Given the description of an element on the screen output the (x, y) to click on. 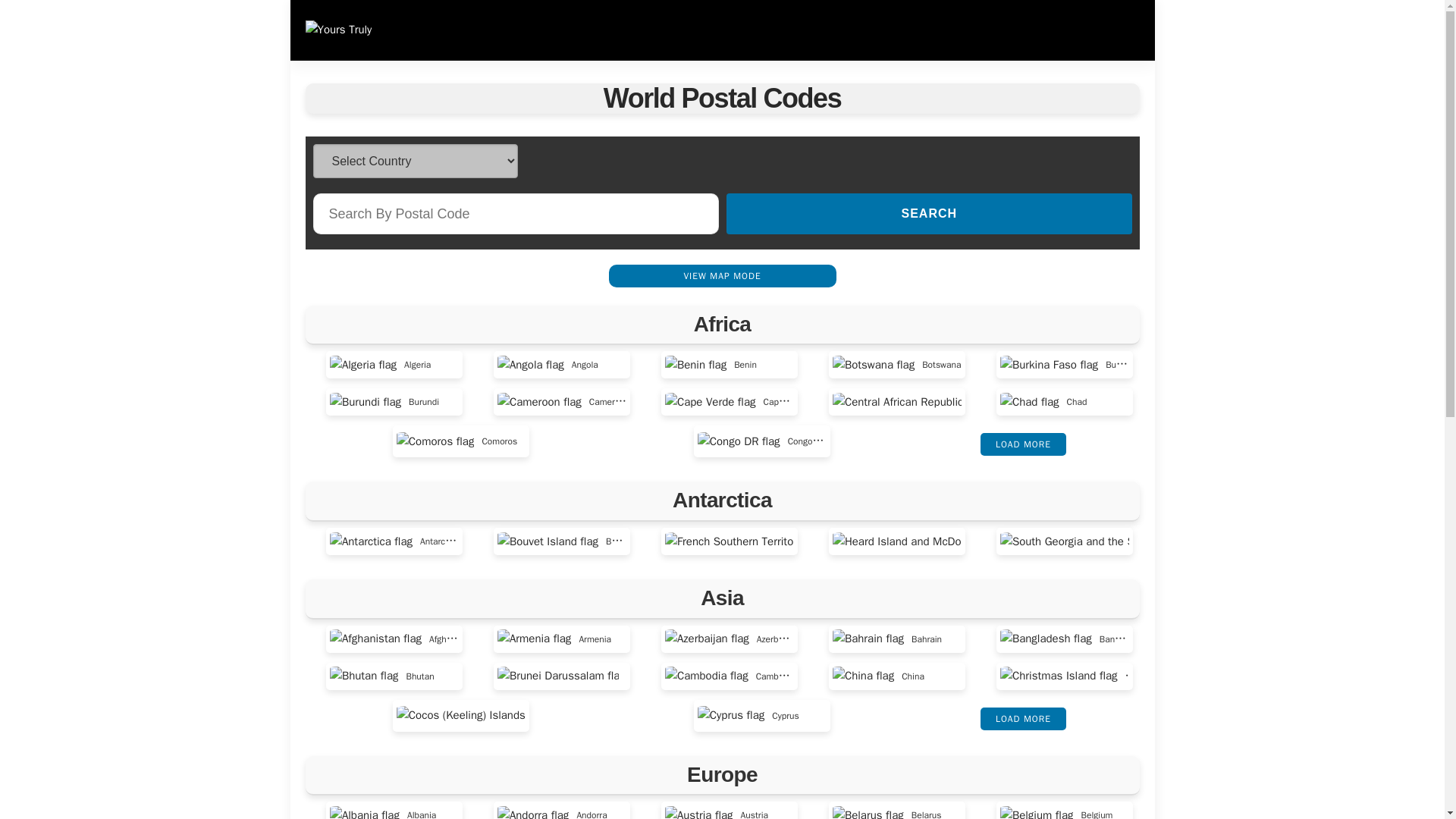
Botswana (896, 364)
Benin (711, 364)
Chad (1043, 401)
Comoros (456, 441)
Burundi (384, 401)
Burkina Faso (1064, 364)
Yours Truly (337, 30)
Cape Verde (729, 401)
Angola (547, 364)
VIEW MAP MODE (721, 275)
Cameroon (561, 401)
SEARCH (928, 213)
Africa (722, 323)
Congo DR (762, 441)
Algeria (380, 364)
